Given the description of an element on the screen output the (x, y) to click on. 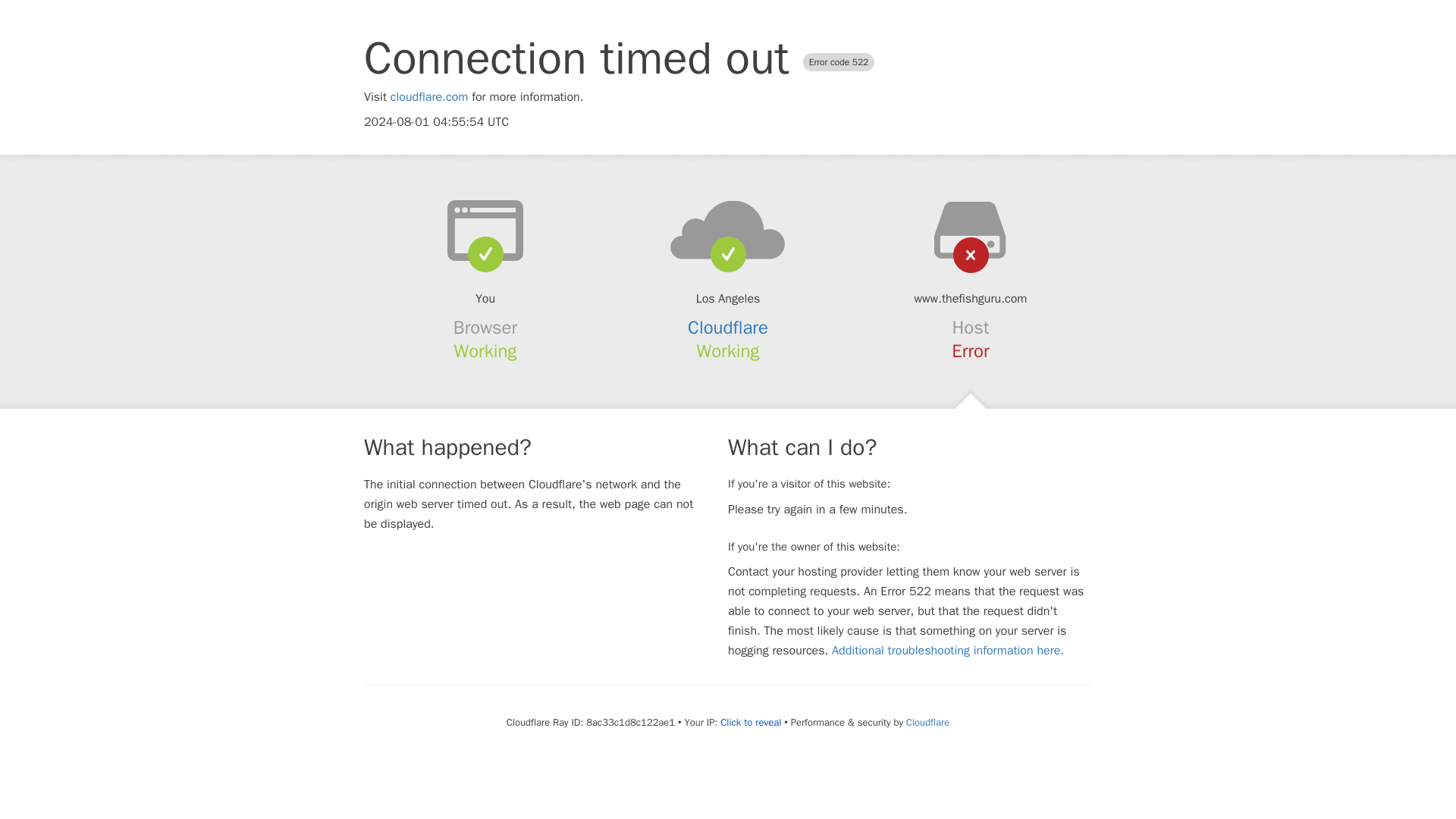
Cloudflare (727, 327)
cloudflare.com (429, 96)
Additional troubleshooting information here. (947, 650)
Click to reveal (750, 722)
Cloudflare (927, 721)
